Given the description of an element on the screen output the (x, y) to click on. 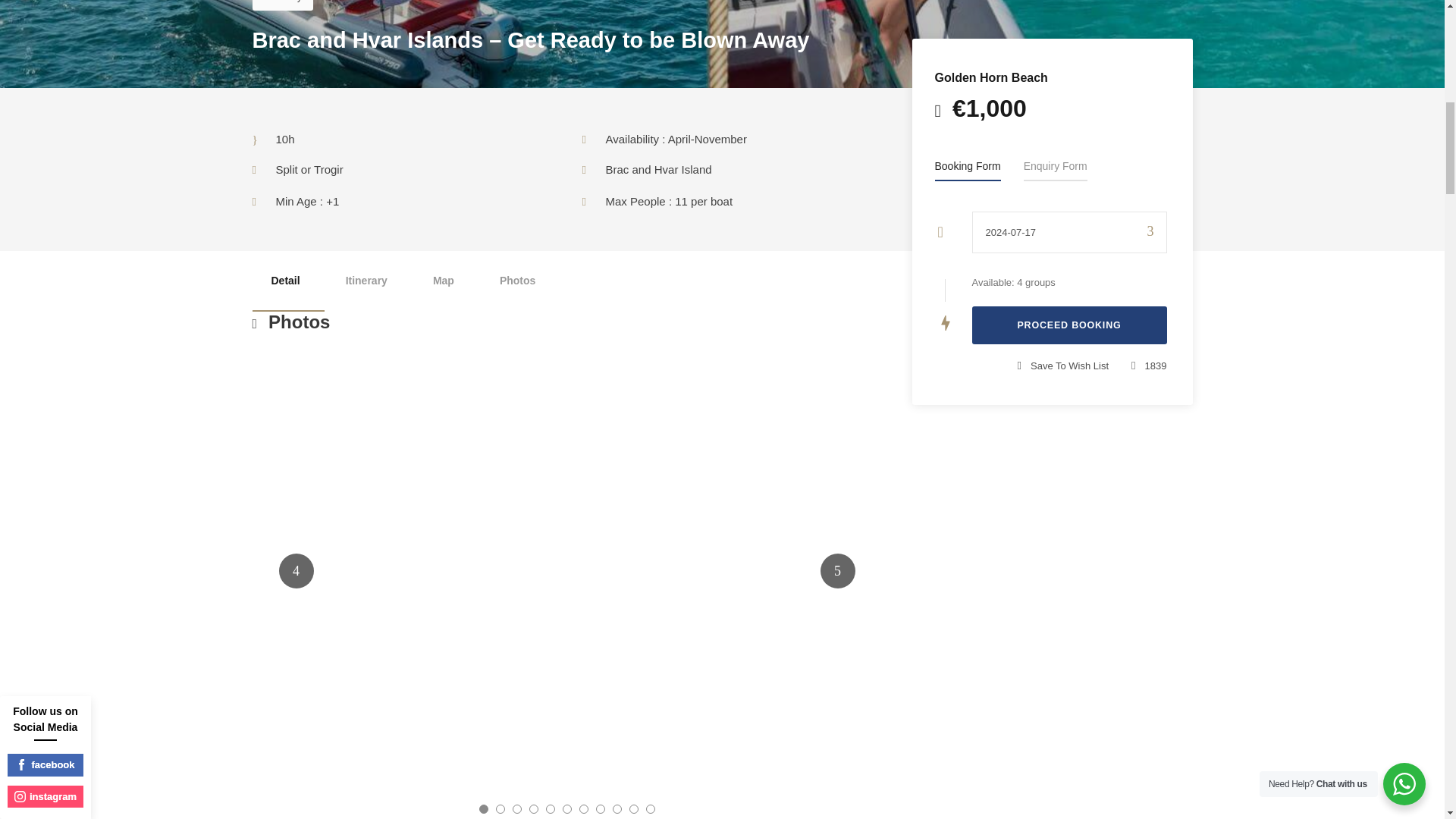
Proceed Booking (1069, 324)
absolut1 (125, 570)
Map (443, 281)
Photos (517, 281)
Detail (284, 281)
Proceed Booking (1069, 324)
1 (565, 570)
Itinerary (366, 281)
Gallery (282, 5)
2024-07-17 (1069, 232)
